Given the description of an element on the screen output the (x, y) to click on. 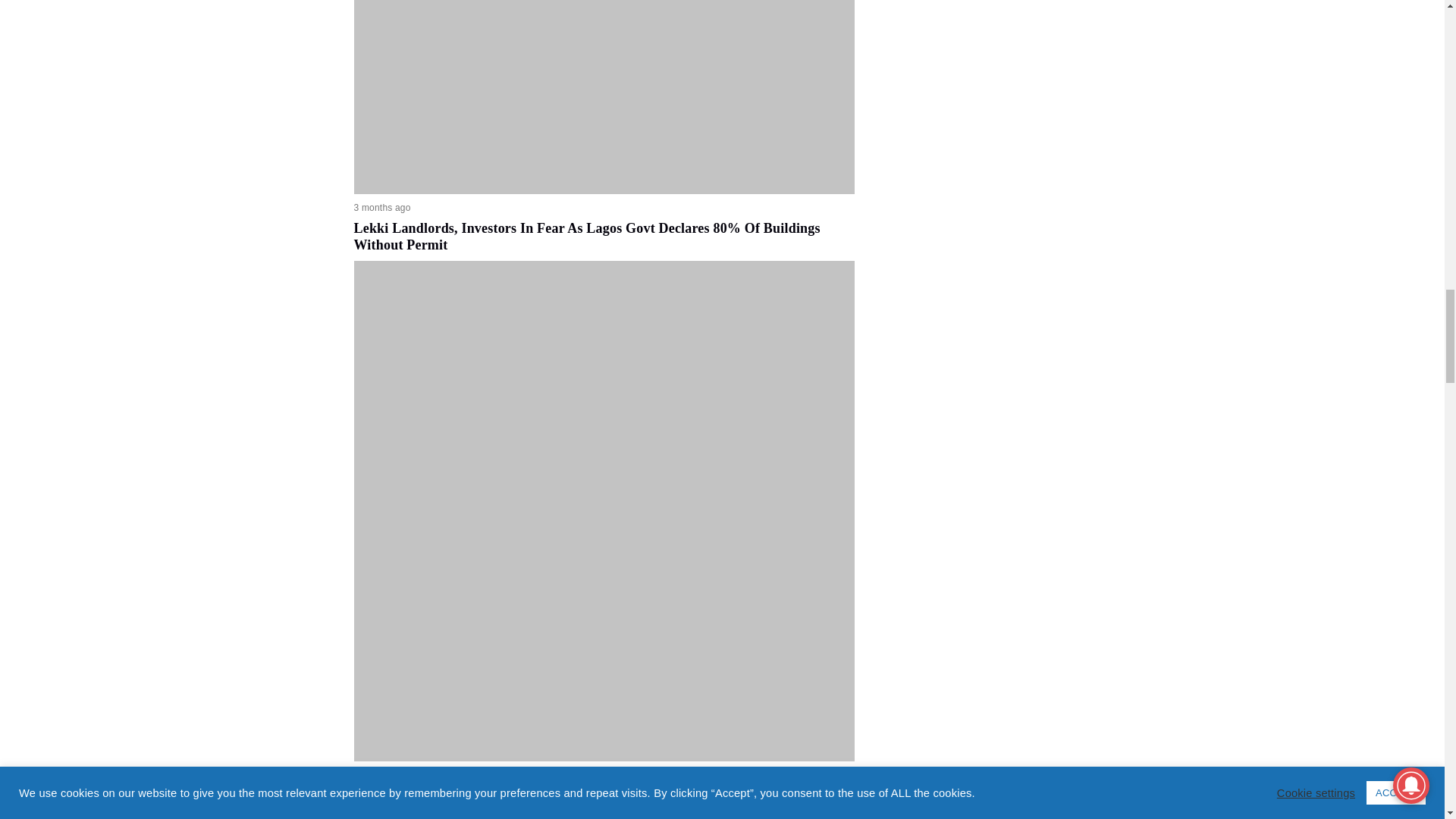
07 May, 2024 21:09:00 (381, 207)
20 Feb, 2024 21:19:04 (381, 775)
